Given the description of an element on the screen output the (x, y) to click on. 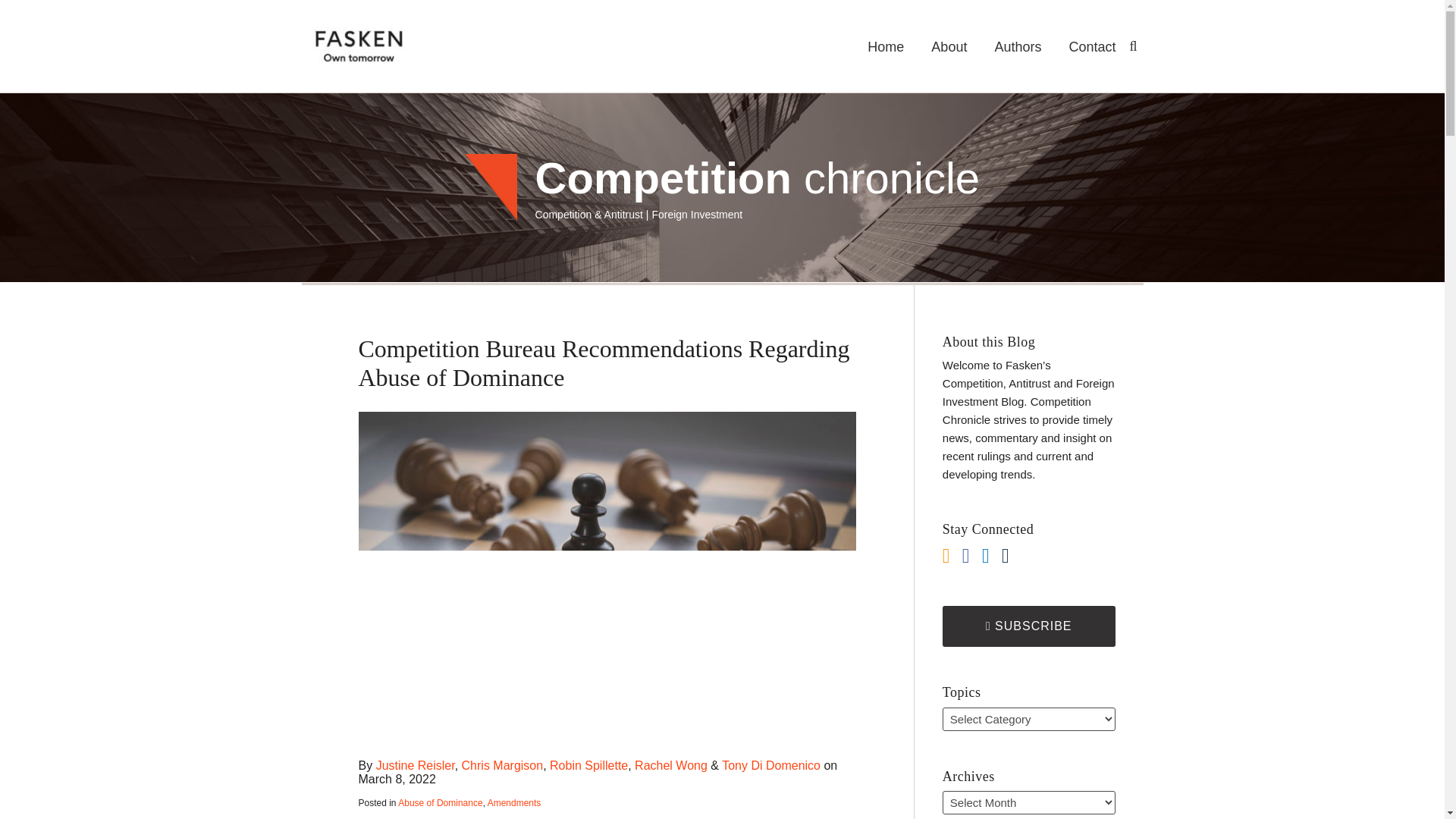
About (948, 46)
Abuse of Dominance (439, 802)
Home (885, 46)
Chris Margison (502, 765)
Contact (1091, 46)
Rachel Wong (670, 765)
Authors (1017, 46)
Amendments (514, 802)
Robin Spillette (588, 765)
Tony Di Domenico (771, 765)
